Given the description of an element on the screen output the (x, y) to click on. 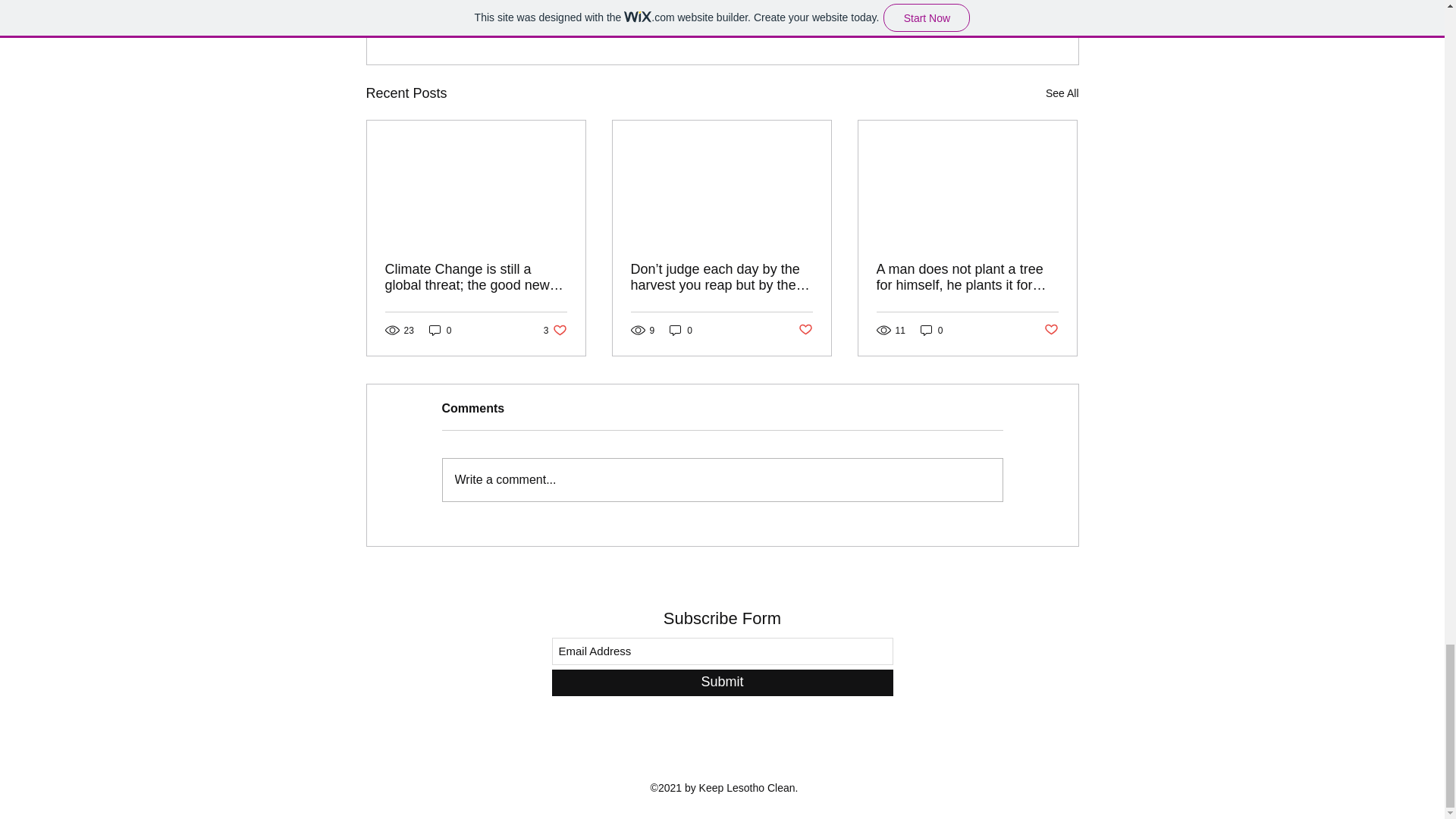
Submit (722, 682)
Post not marked as liked (1050, 330)
0 (440, 329)
Post not marked as liked (555, 329)
See All (804, 330)
0 (1061, 93)
0 (681, 329)
Write a comment... (931, 329)
